Given the description of an element on the screen output the (x, y) to click on. 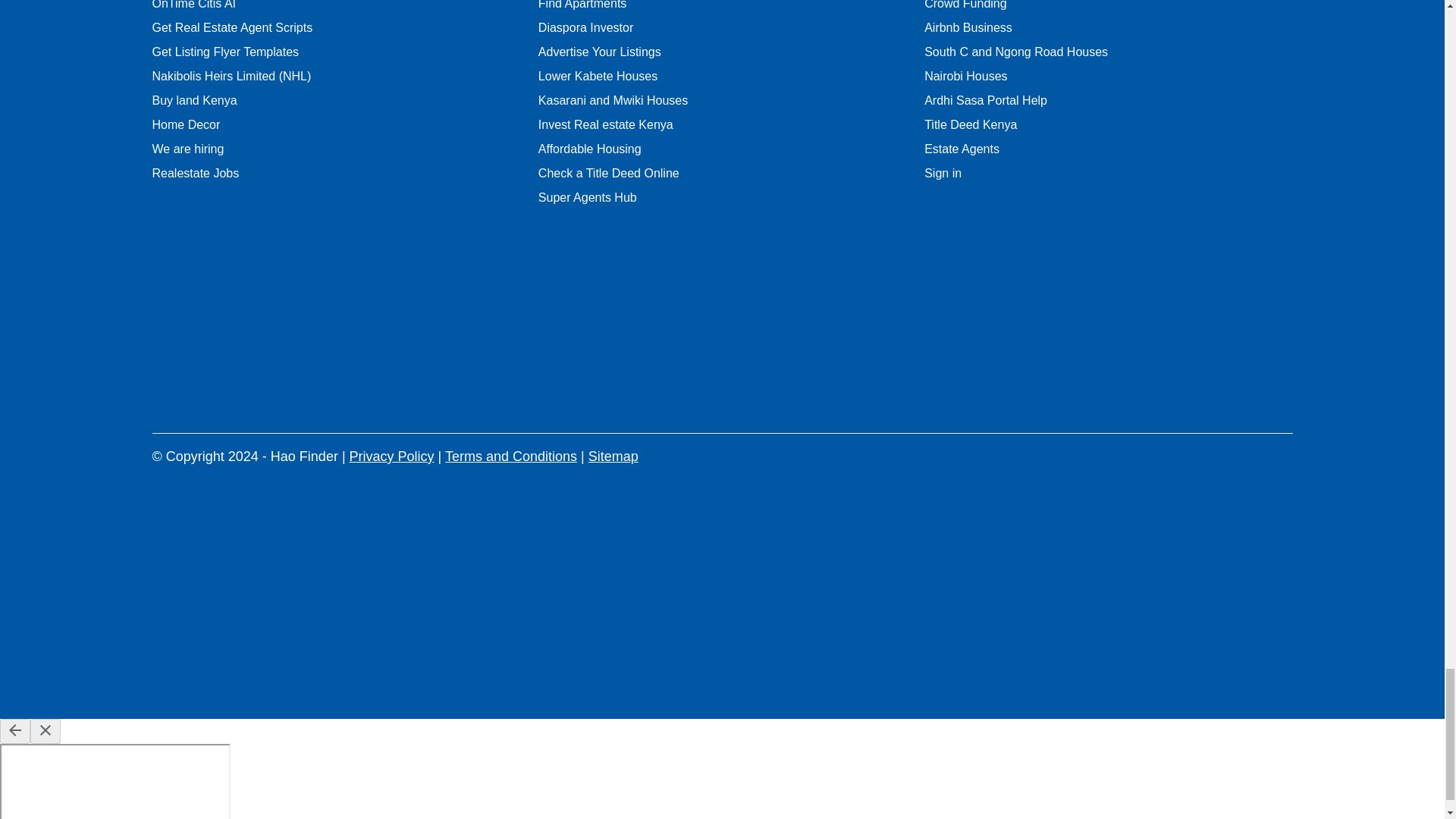
Get Listing Flyer Templates (224, 51)
Get Real Estate Agent Scripts (232, 27)
OnTime Citis AI (193, 4)
